Given the description of an element on the screen output the (x, y) to click on. 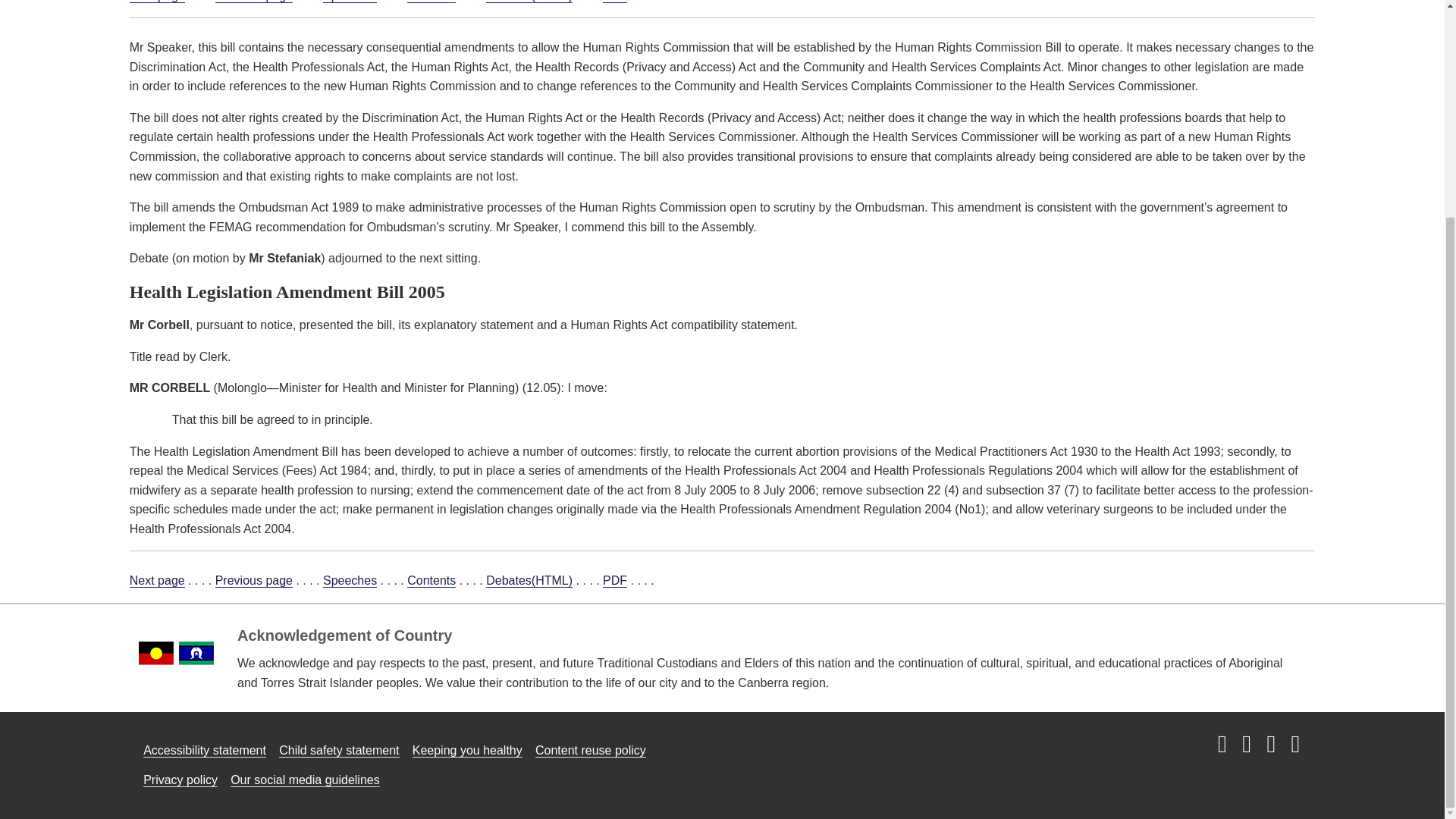
Contents (431, 1)
Speeches (350, 581)
Read about how we're keeping our Assembly healthy (467, 750)
Read our social media guidelines (305, 780)
Read our access and inclusion statement (204, 750)
Our social media guidelines (305, 780)
Previous page (253, 581)
Accessibility statement (204, 750)
Contents (431, 581)
Read our child safety committment (338, 750)
